Given the description of an element on the screen output the (x, y) to click on. 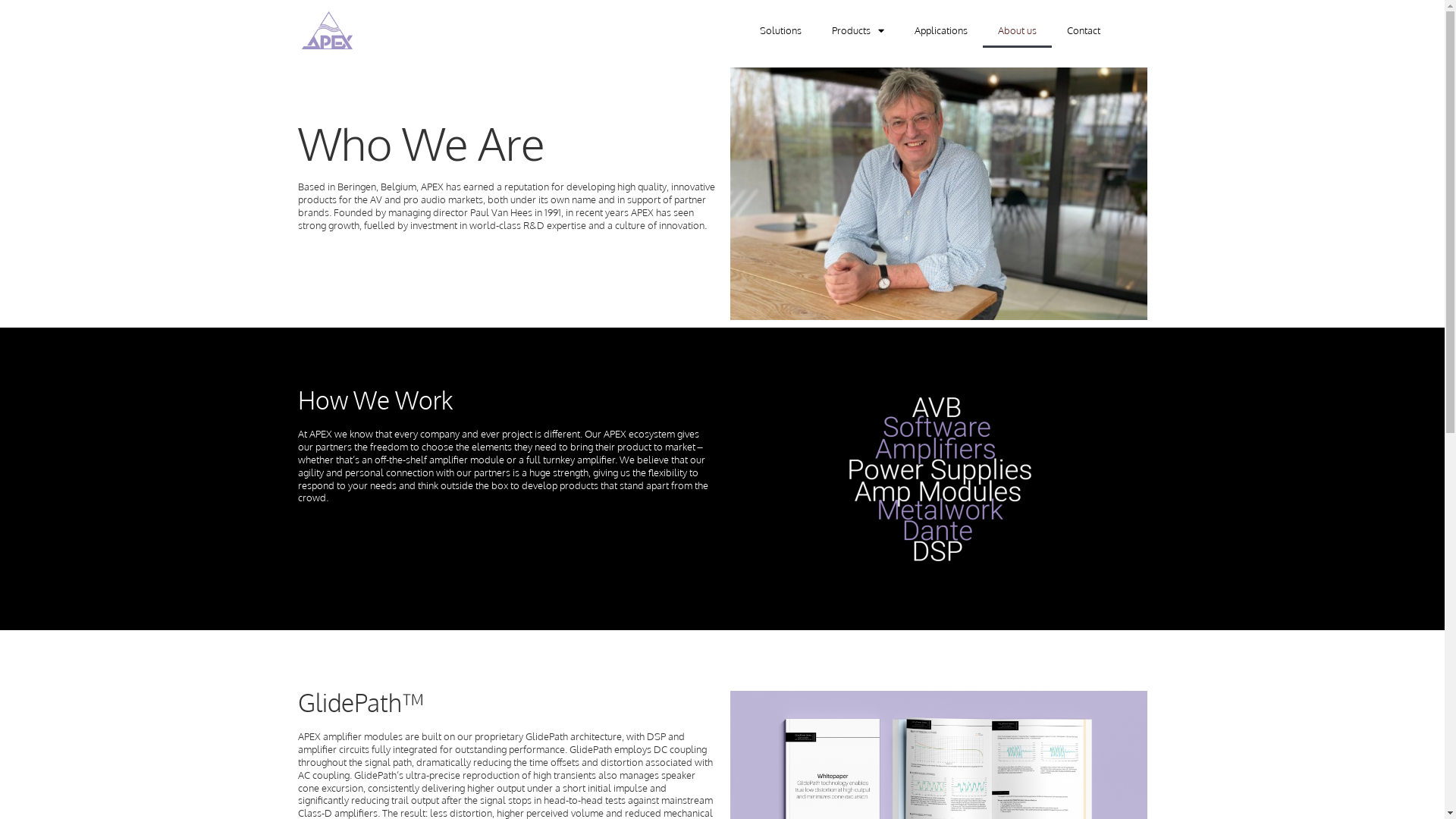
Products Element type: text (856, 29)
About us Element type: text (1016, 29)
Contact Element type: text (1082, 29)
Applications Element type: text (940, 29)
Solutions Element type: text (780, 29)
